Given the description of an element on the screen output the (x, y) to click on. 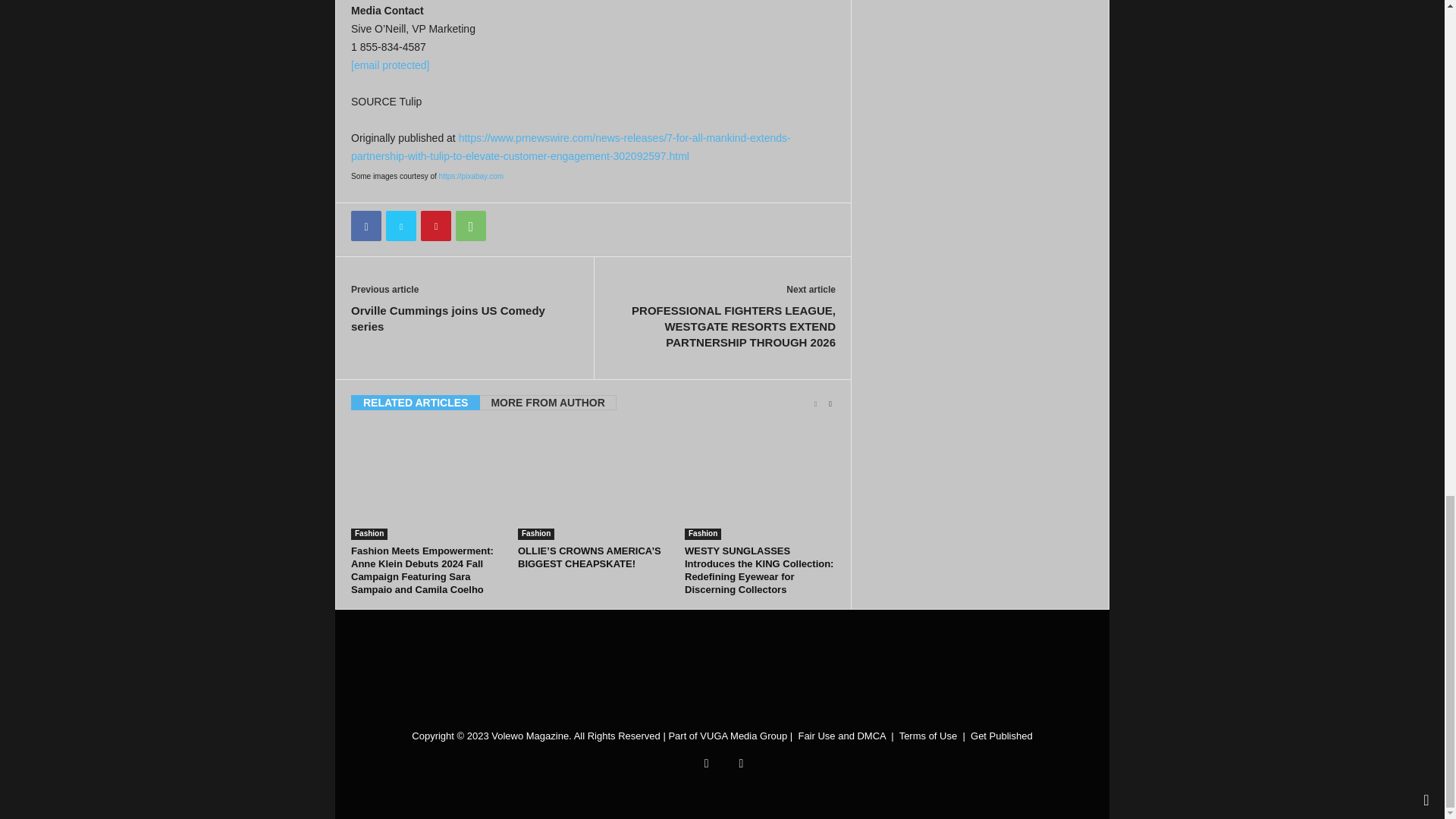
Pinterest (435, 225)
Twitter (400, 225)
Facebook (365, 225)
